Given the description of an element on the screen output the (x, y) to click on. 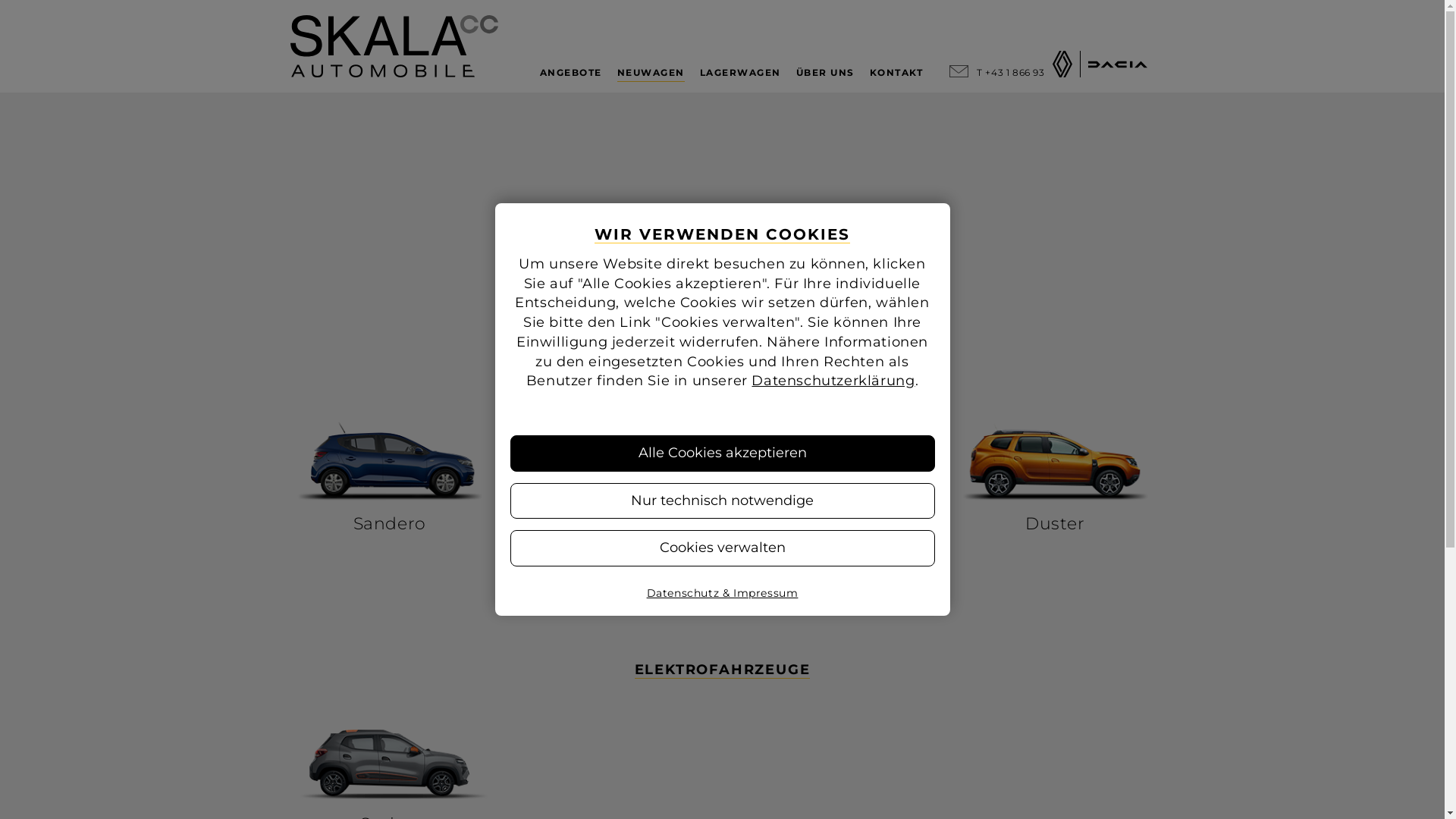
LAGERWAGEN Element type: text (739, 72)
T +43 1 866 93 Element type: text (1010, 72)
Duster Element type: text (1054, 474)
Sandero Element type: text (389, 474)
KONTAKT Element type: text (895, 72)
Sandero Stepway Element type: text (611, 474)
NEUWAGEN Element type: text (650, 72)
Cookies verwalten Element type: text (721, 548)
Datenschutz & Impressum Element type: text (722, 592)
Nur technisch notwendige Element type: text (721, 501)
Jogger Element type: text (833, 474)
ANGEBOTE Element type: text (570, 72)
Alle Cookies akzeptieren Element type: text (721, 453)
